Given the description of an element on the screen output the (x, y) to click on. 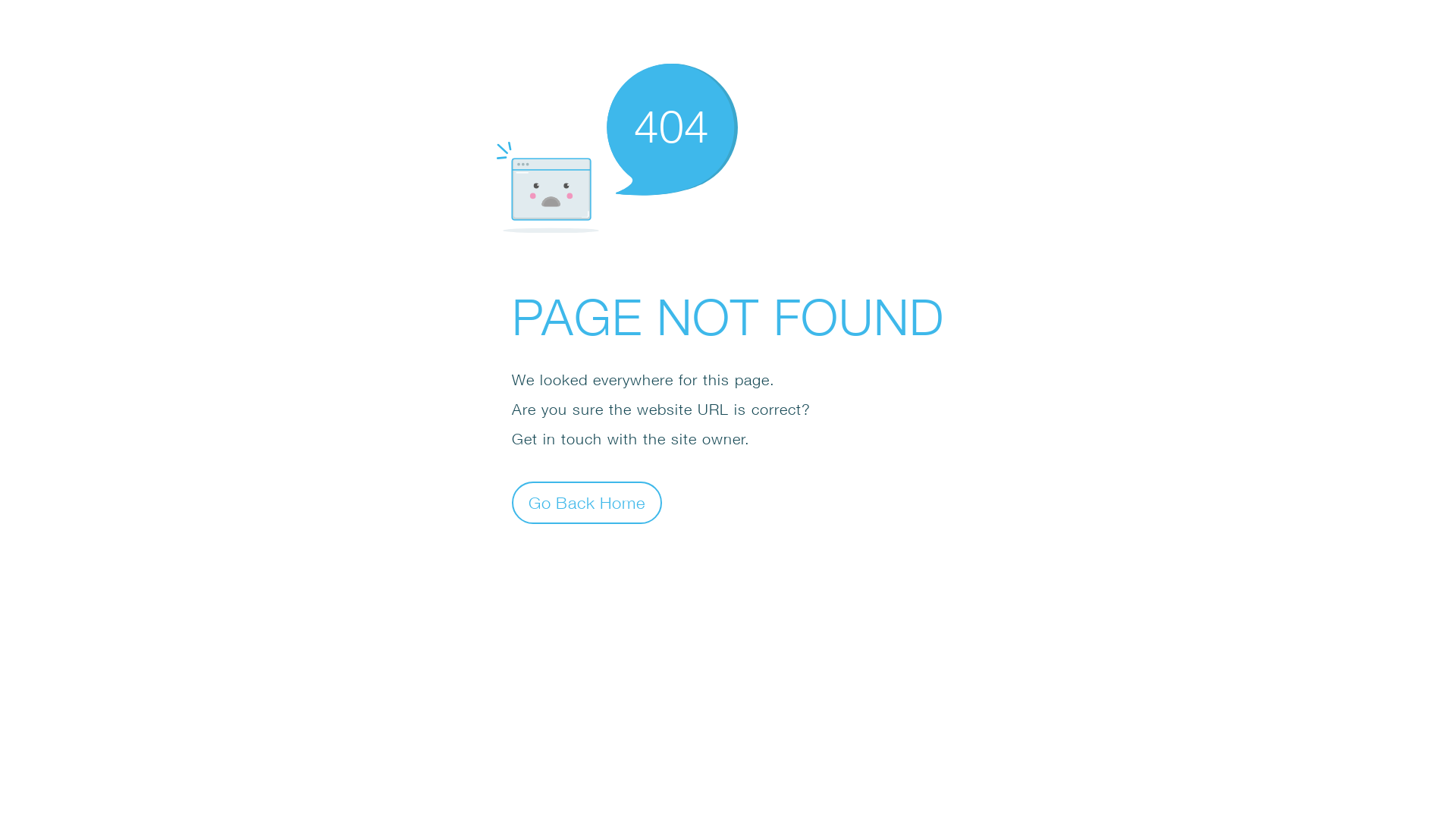
Go Back Home Element type: text (586, 502)
